Given the description of an element on the screen output the (x, y) to click on. 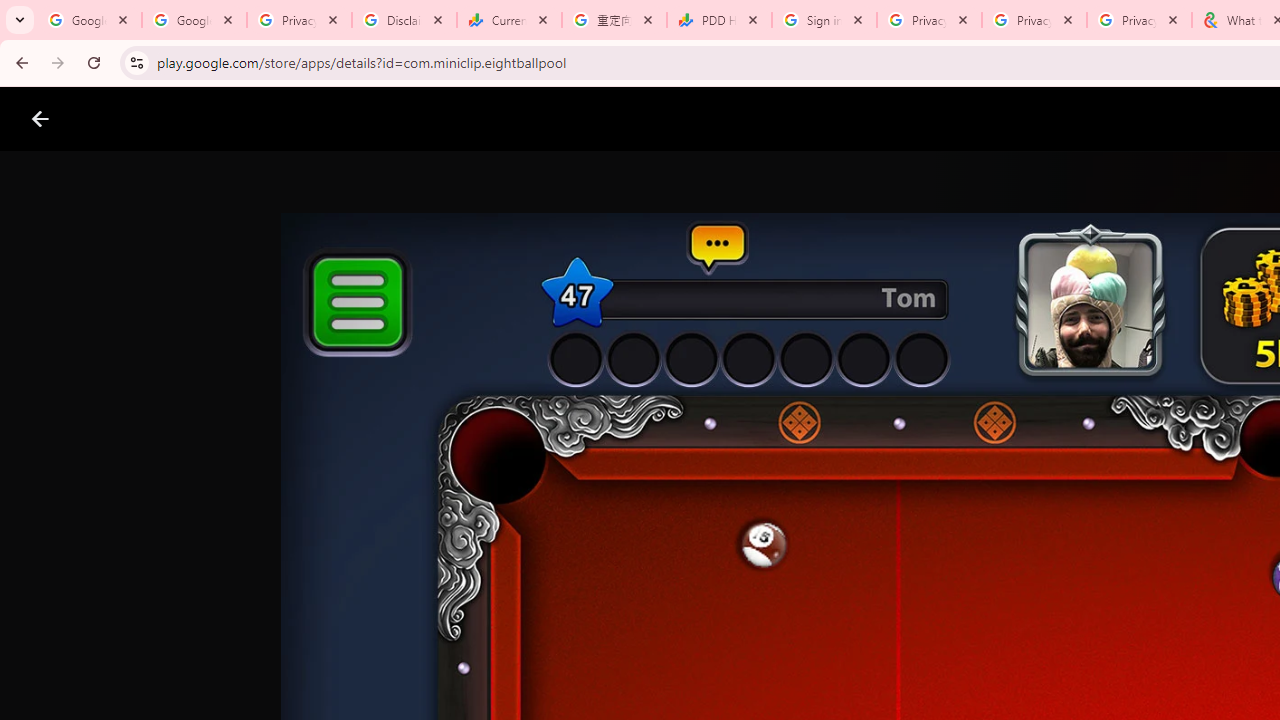
Close screenshot viewer (39, 119)
Currencies - Google Finance (509, 20)
Miniclip.com (680, 586)
Games (248, 119)
Google Play logo (111, 119)
